Given the description of an element on the screen output the (x, y) to click on. 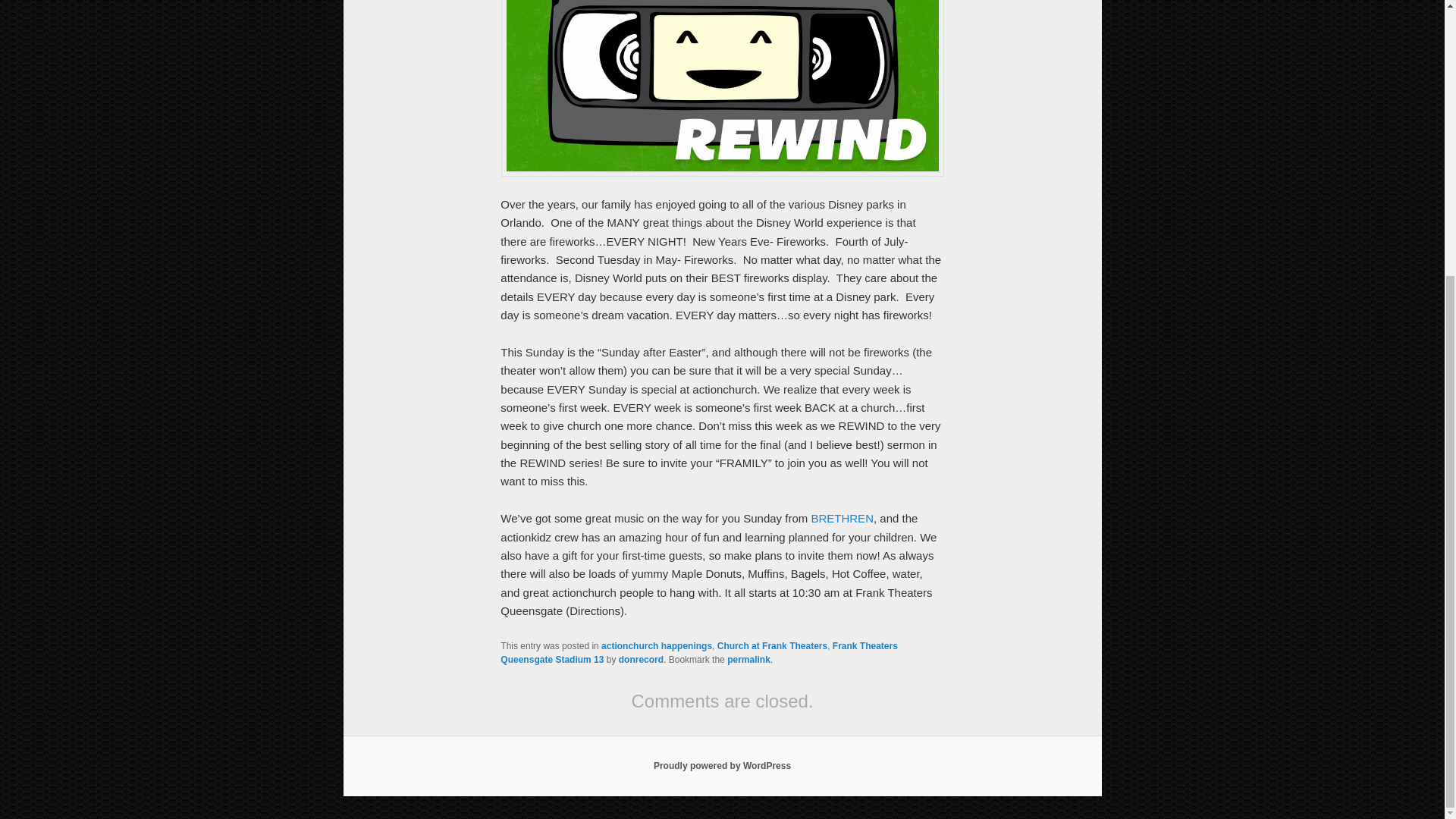
Frank Theaters Queensgate Stadium 13 (699, 652)
Semantic Personal Publishing Platform (721, 765)
actionchurch happenings (656, 645)
permalink (748, 659)
BRETHREN (841, 517)
Proudly powered by WordPress (721, 765)
donrecord (640, 659)
Church at Frank Theaters (772, 645)
